Given the description of an element on the screen output the (x, y) to click on. 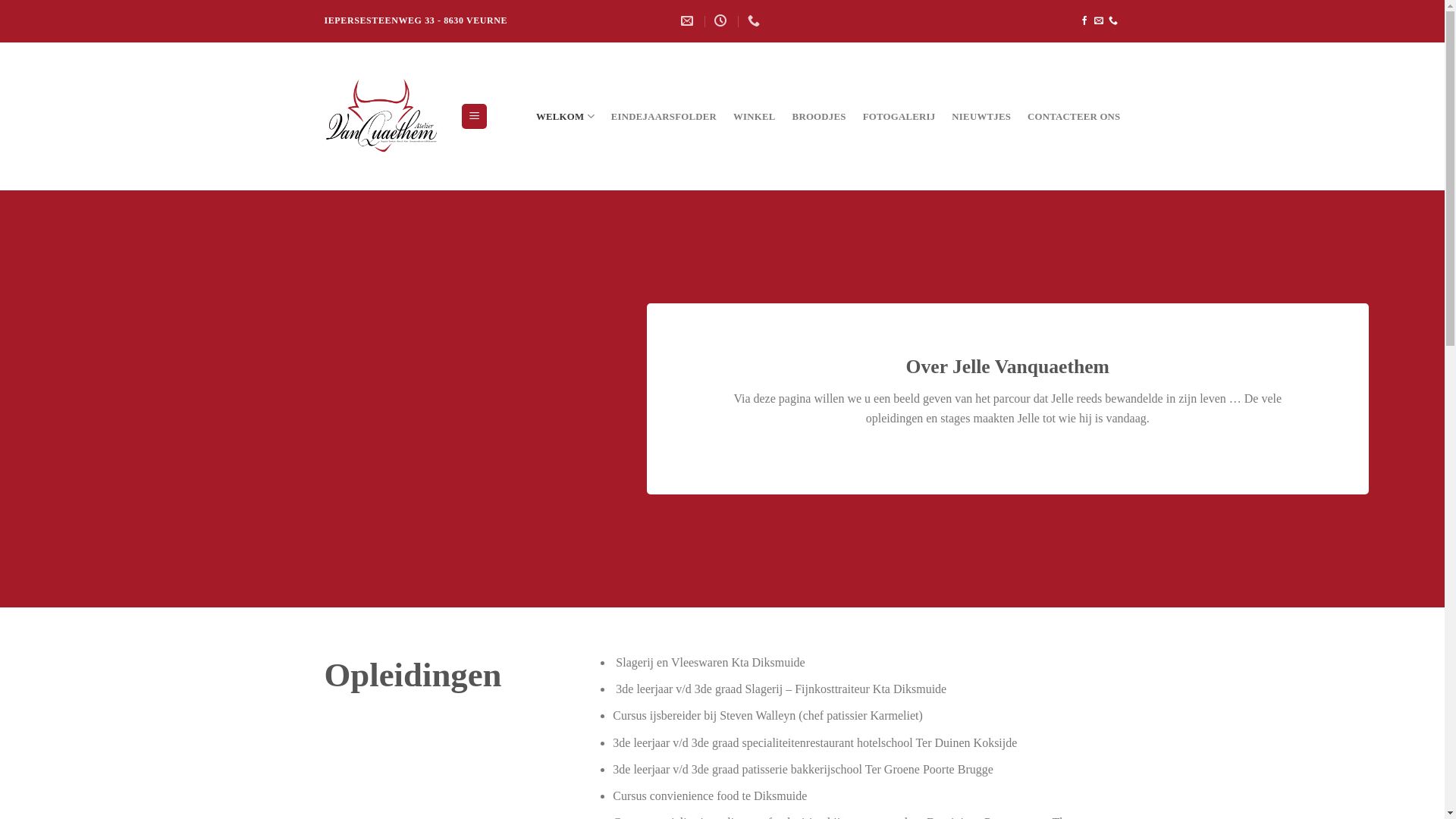
BROODJES Element type: text (819, 115)
info@ateliervq.be Element type: hover (688, 20)
CONTACTEER ONS Element type: text (1073, 115)
WELKOM Element type: text (565, 115)
+3258594299 Element type: hover (755, 20)
Stuur ons een e-mail Element type: hover (1098, 20)
WINKEL Element type: text (754, 115)
FOTOGALERIJ Element type: text (898, 115)
Bel ons Element type: hover (1112, 20)
Volg ons op Facebook Element type: hover (1083, 20)
EINDEJAARSFOLDER Element type: text (663, 115)
NIEUWTJES Element type: text (980, 115)
